Given the description of an element on the screen output the (x, y) to click on. 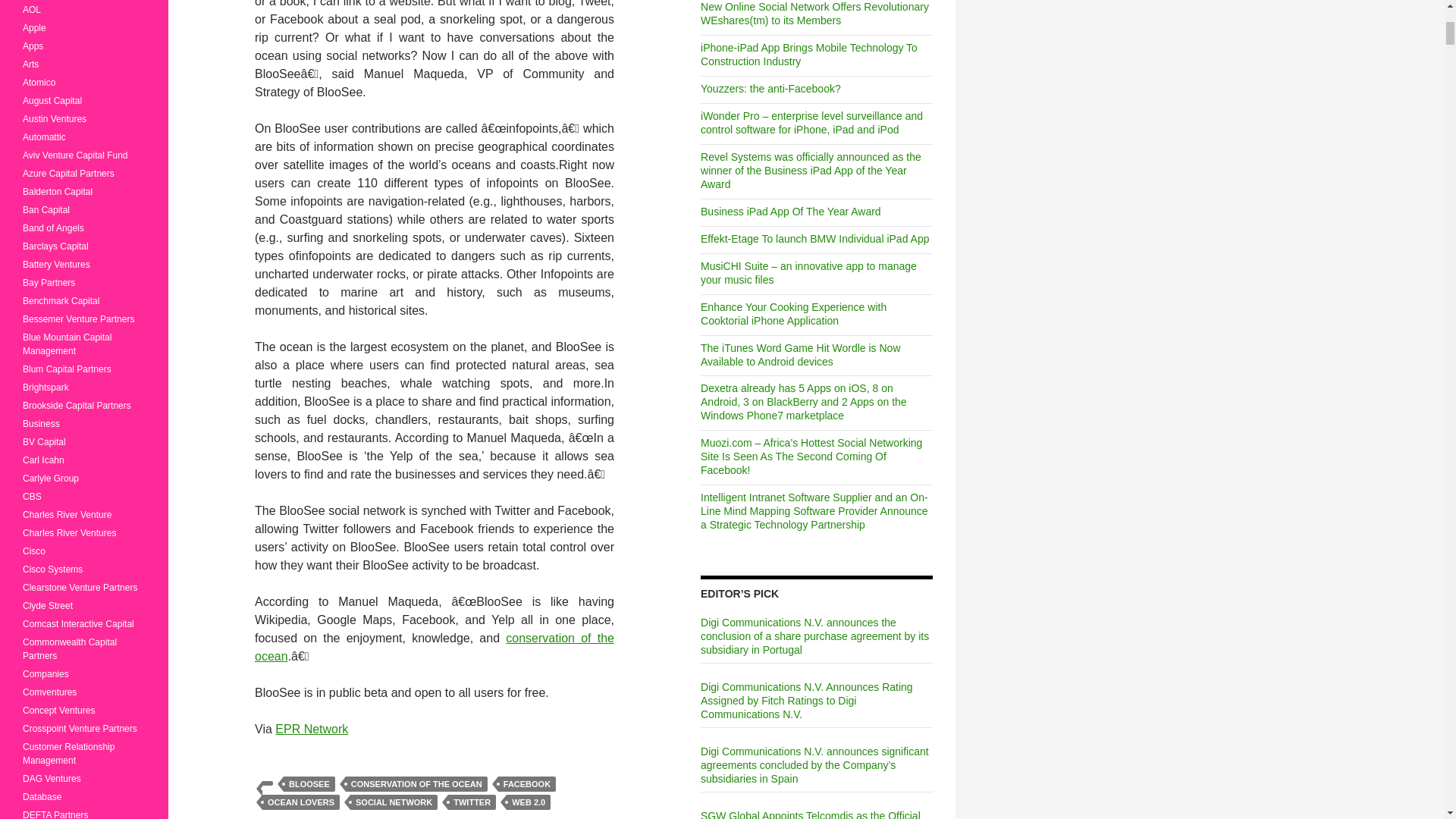
CONSERVATION OF THE OCEAN (416, 783)
EPR Network (311, 728)
FACEBOOK (526, 783)
conservation of the ocean (434, 646)
SOCIAL NETWORK (394, 801)
BLOOSEE (308, 783)
TWITTER (472, 801)
WEB 2.0 (528, 801)
OCEAN LOVERS (300, 801)
